Given the description of an element on the screen output the (x, y) to click on. 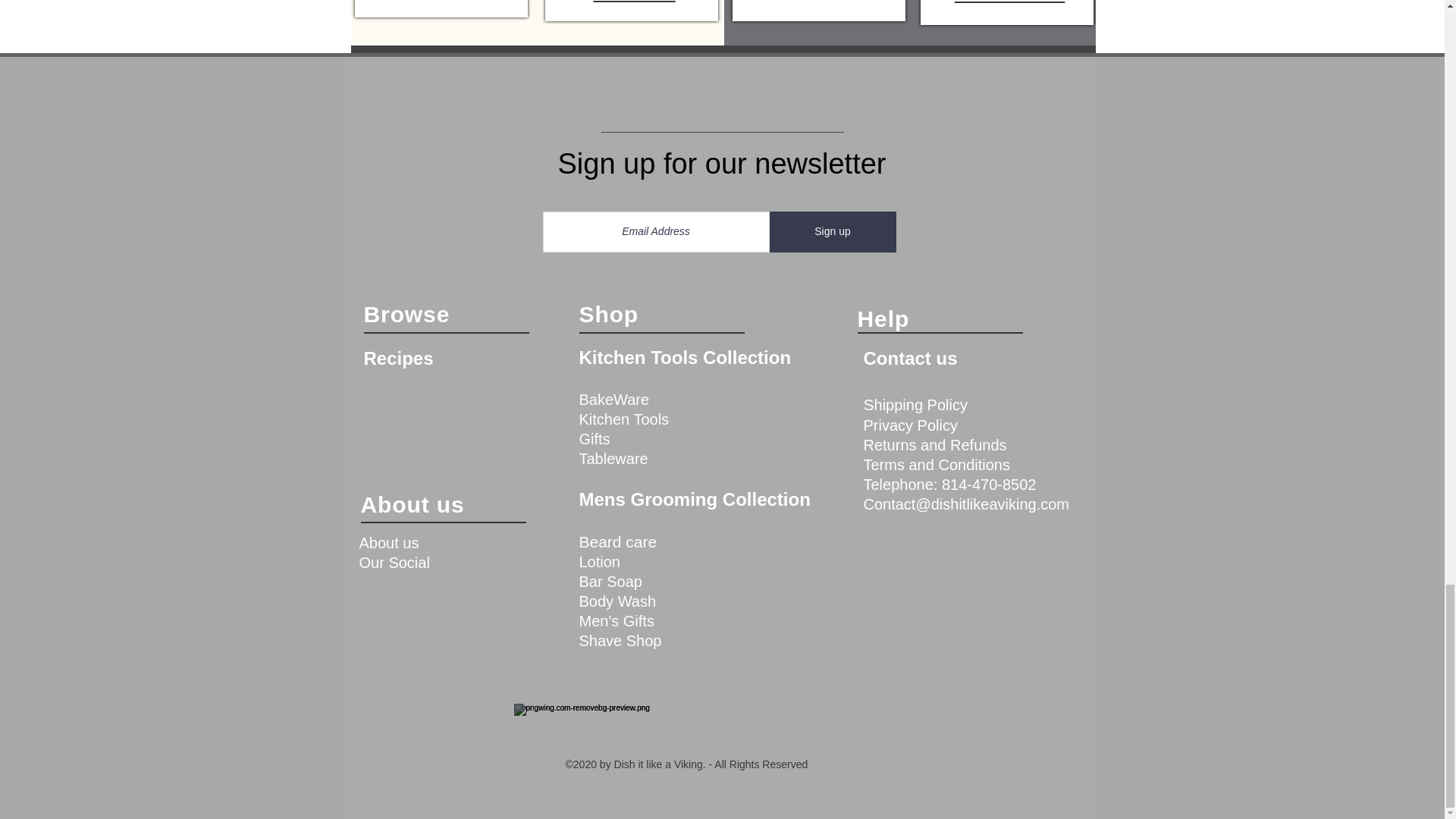
Recipes (398, 358)
Men's Gifts (1010, 2)
Giftware (633, 1)
Sign up (831, 231)
About us (389, 542)
